Given the description of an element on the screen output the (x, y) to click on. 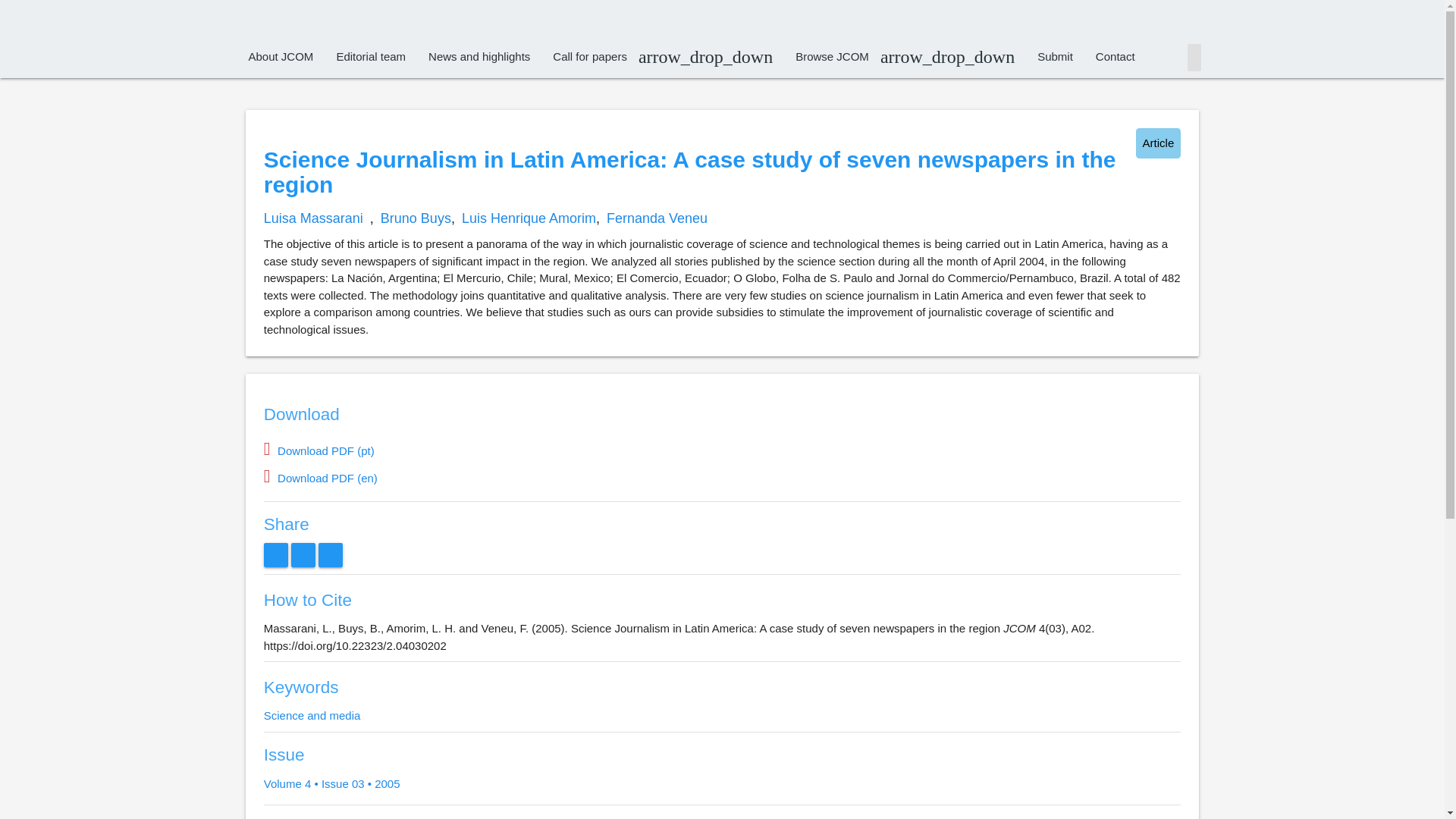
News and highlights (478, 55)
Contact (1115, 55)
Luisa Massarani (312, 218)
Luis Henrique Amorim (528, 218)
Editorial team (370, 55)
Bruno Buys (415, 218)
About JCOM (279, 55)
Submit (1055, 55)
Fernanda Veneu (657, 218)
